Given the description of an element on the screen output the (x, y) to click on. 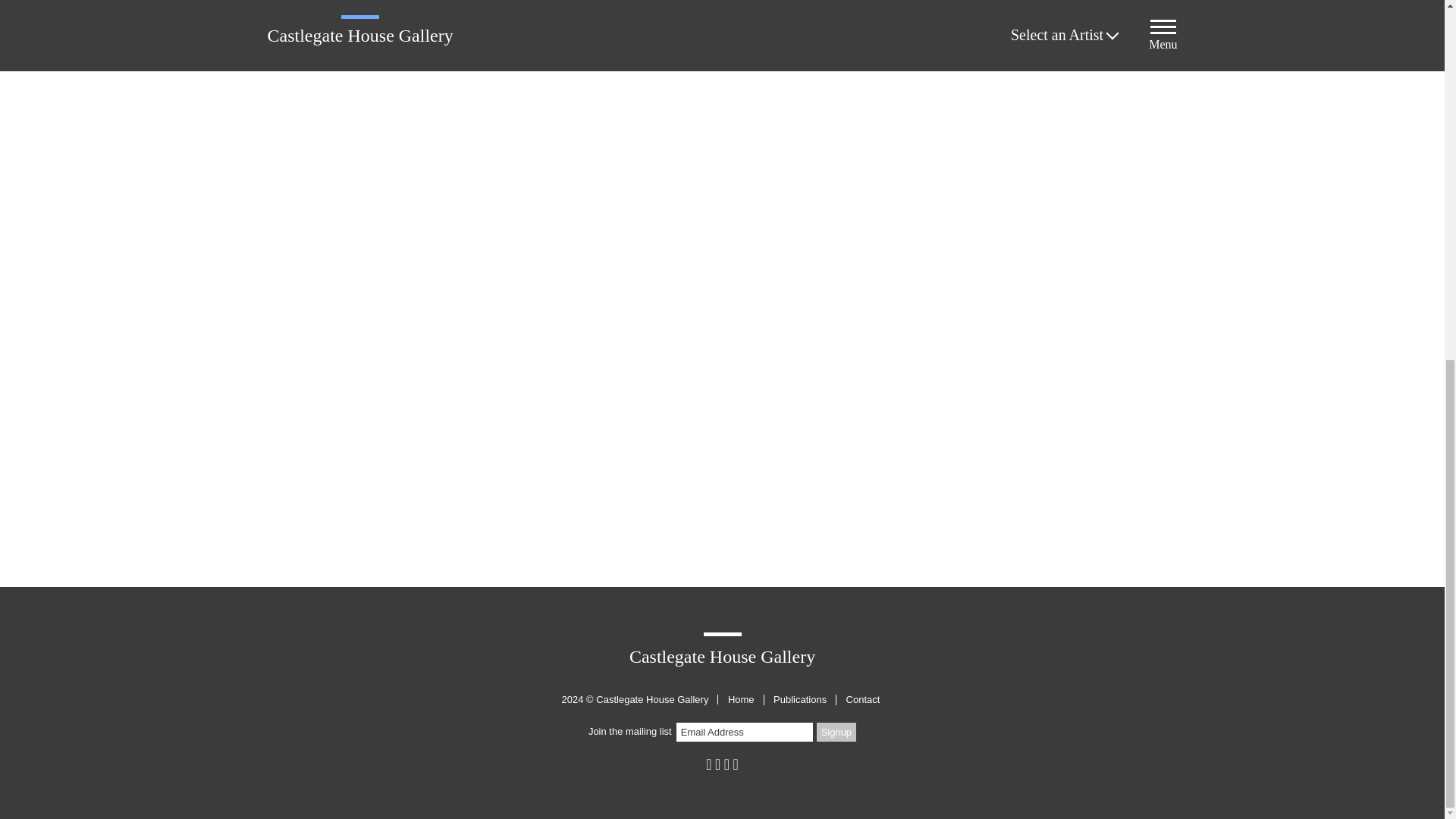
Signup (836, 731)
Email Address (744, 731)
